Given the description of an element on the screen output the (x, y) to click on. 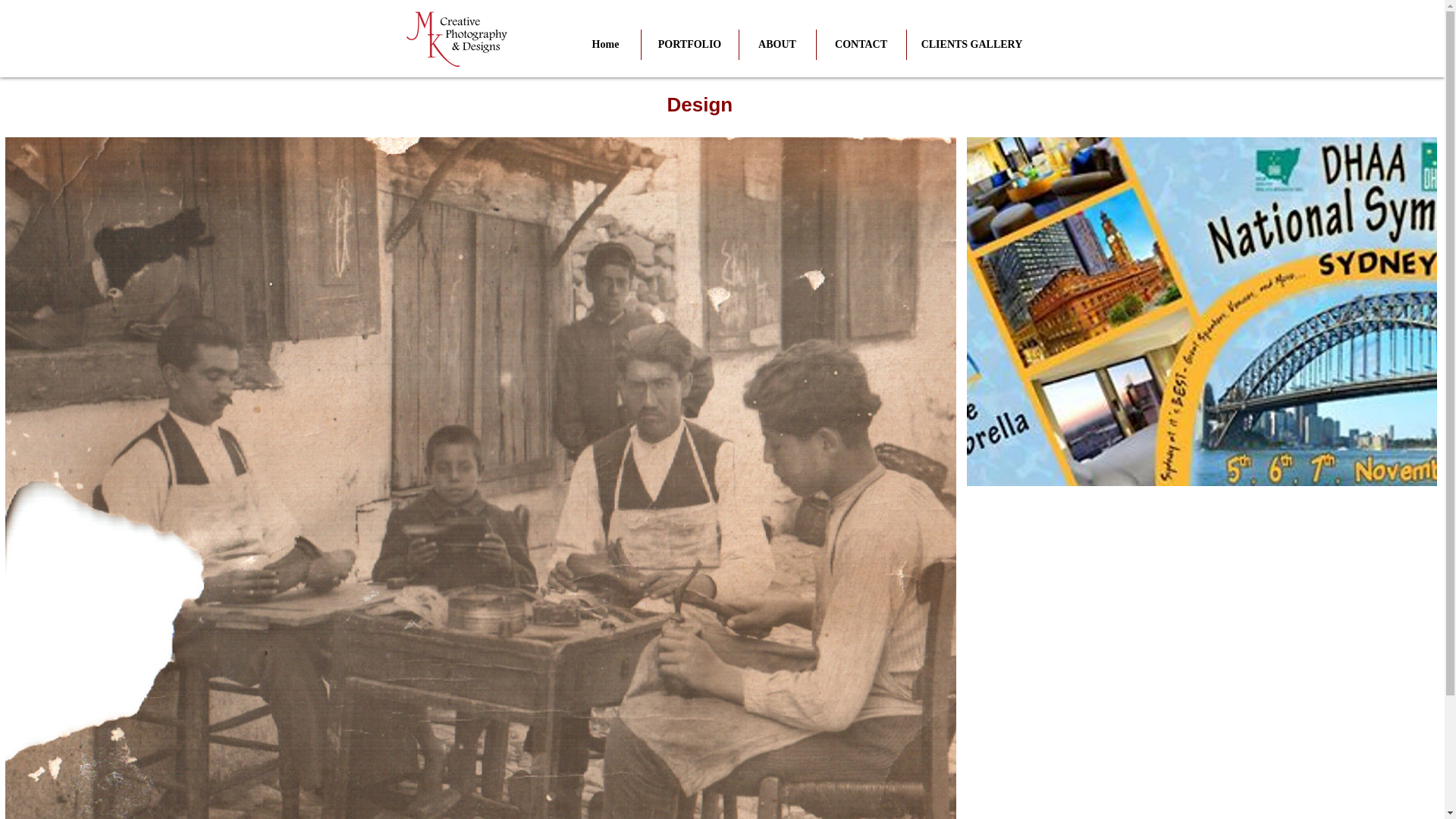
CLIENTS GALLERY (971, 44)
new logo--.png (463, 38)
Home (605, 44)
CONTACT (860, 44)
ABOUT (776, 44)
PORTFOLIO (690, 44)
